Given the description of an element on the screen output the (x, y) to click on. 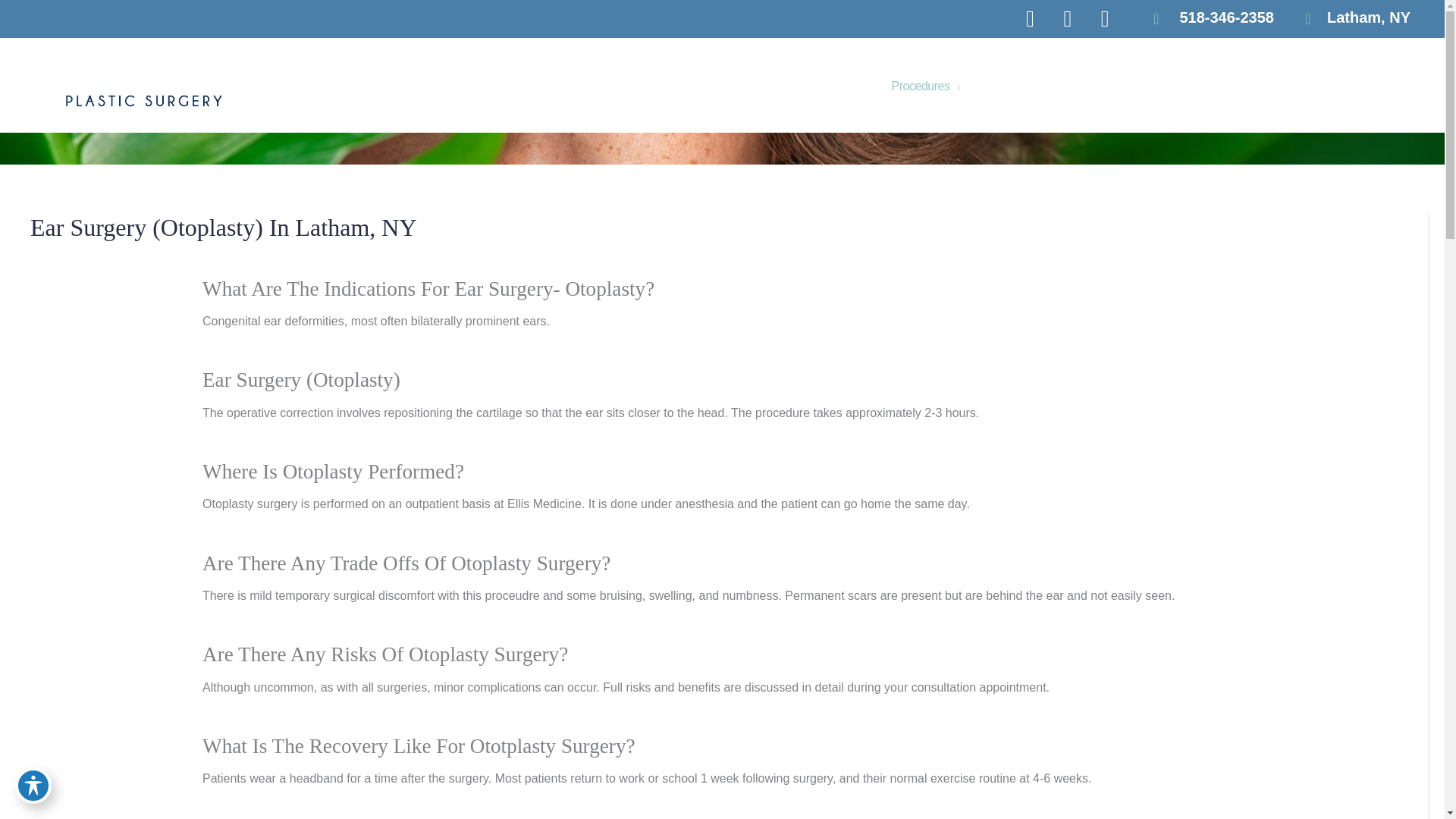
Latham, NY (1368, 17)
Doctors (808, 86)
Staff (859, 86)
518-346-2358 (1205, 19)
Procedures (921, 86)
